Given the description of an element on the screen output the (x, y) to click on. 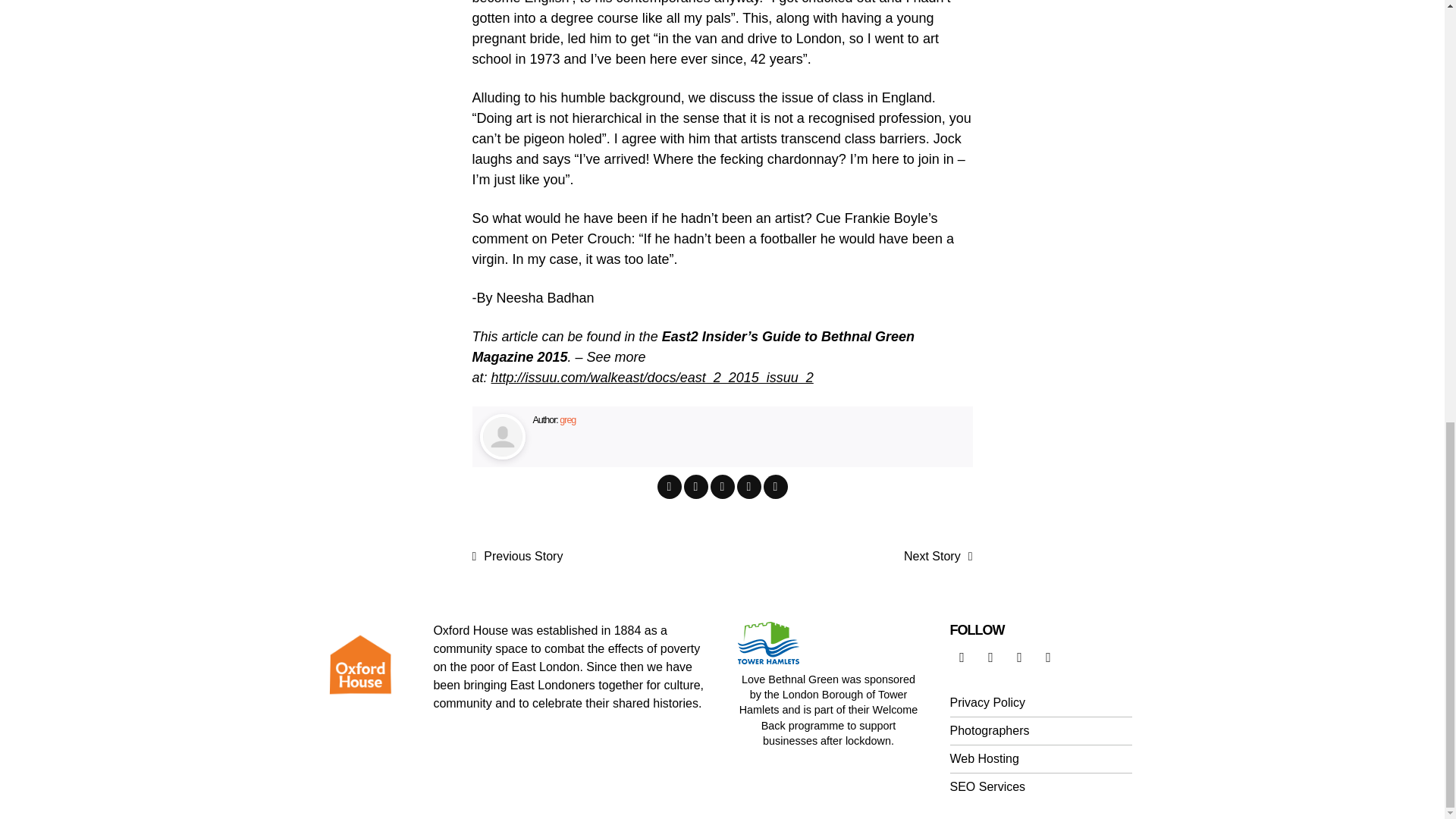
Next Story (938, 556)
Previous Story (516, 556)
greg (567, 419)
